Given the description of an element on the screen output the (x, y) to click on. 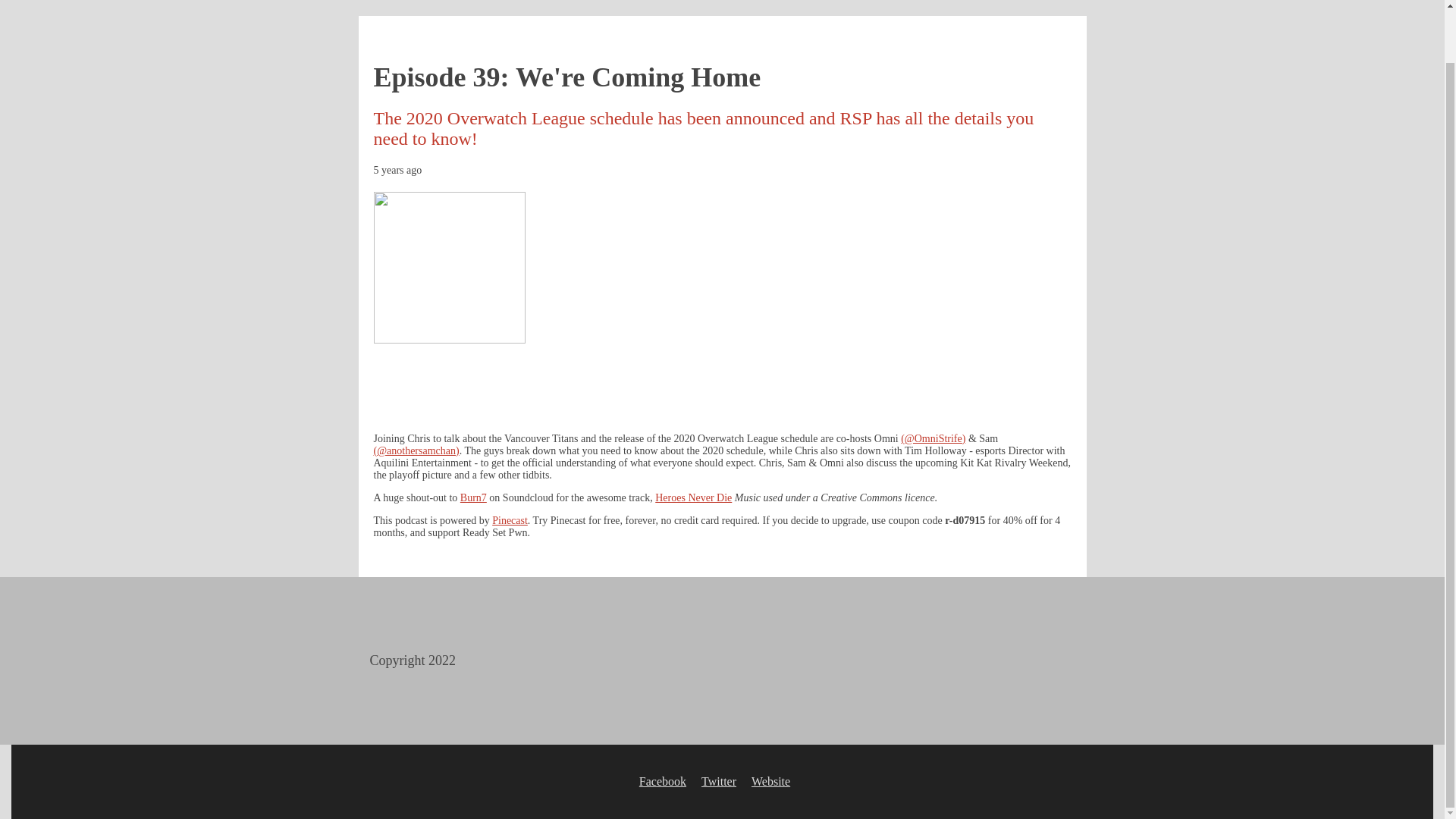
Audio player for Episode 39: We're Coming Home (721, 381)
Website (770, 781)
Heroes Never Die (693, 497)
Burn7 (473, 497)
Facebook (662, 781)
Pinecast (509, 520)
Twitter (718, 781)
